Given the description of an element on the screen output the (x, y) to click on. 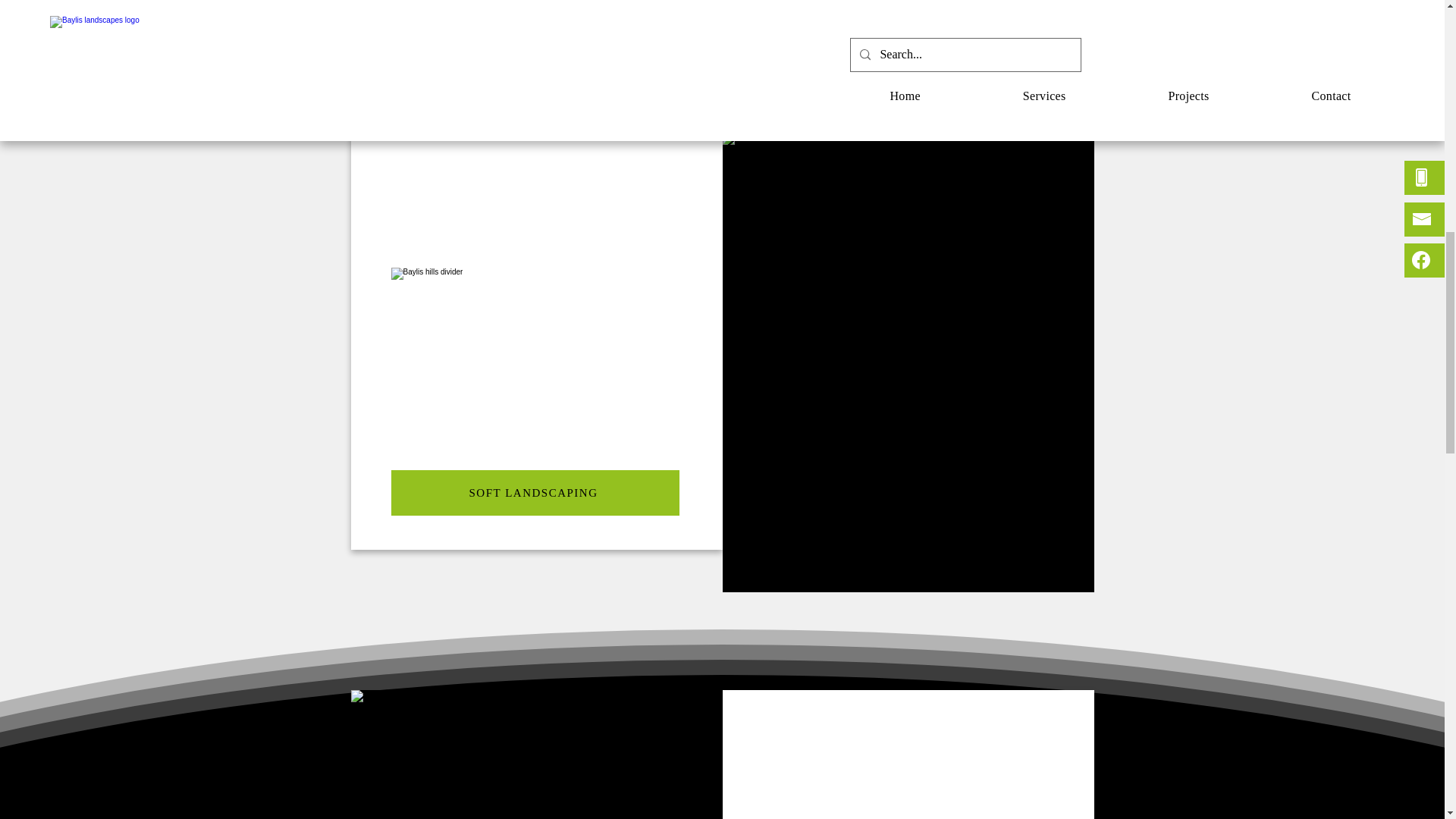
HARD LANDSCAPING PROJECTS (721, 49)
SOFT LANDSCAPING (535, 492)
